Given the description of an element on the screen output the (x, y) to click on. 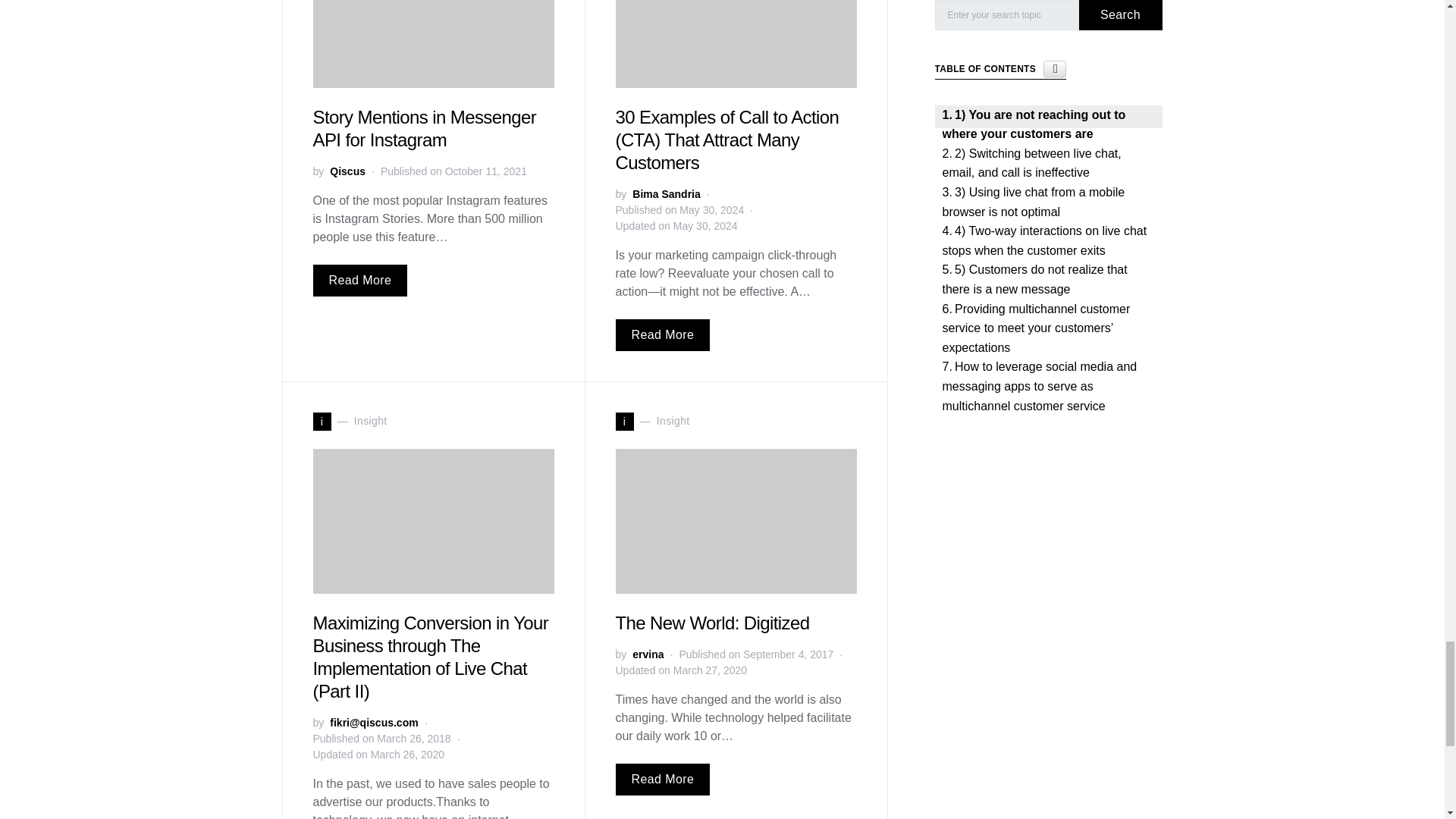
View all posts by ervina (647, 653)
View all posts by Qiscus (347, 171)
View all posts by Bima Sandria (665, 194)
